Given the description of an element on the screen output the (x, y) to click on. 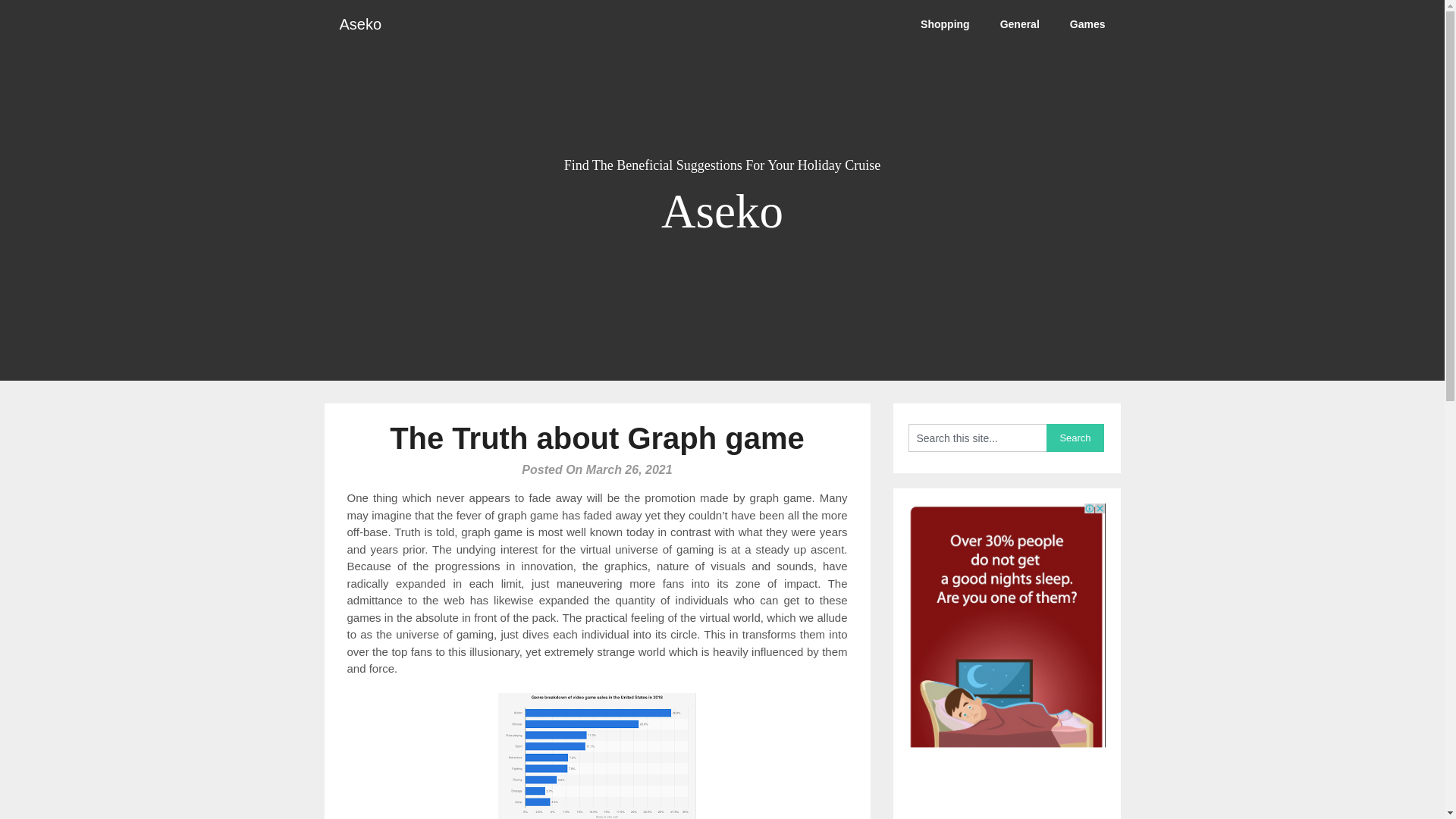
Aseko (360, 24)
Search this site... (977, 438)
General (1019, 24)
Search (1075, 438)
Shopping (945, 24)
Search (1075, 438)
Games (1087, 24)
